Given the description of an element on the screen output the (x, y) to click on. 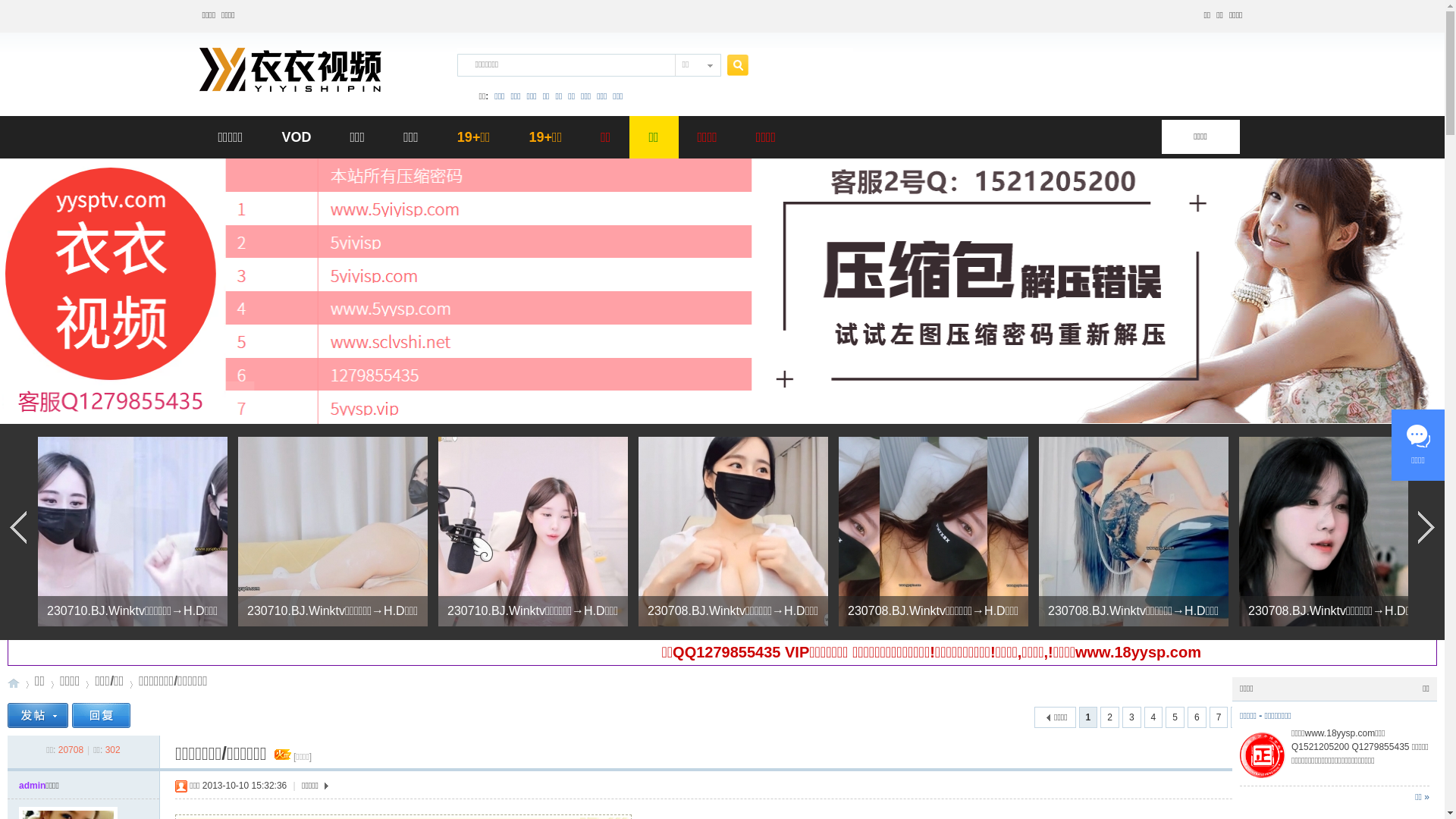
2 Element type: text (1109, 717)
7 Element type: text (1218, 717)
4 Element type: text (1153, 717)
10 Element type: text (1286, 717)
... 31 Element type: text (1318, 717)
5 Element type: text (1174, 717)
6 Element type: text (1196, 717)
3 Element type: text (1131, 717)
8 Element type: text (1239, 717)
VOD Element type: text (295, 137)
admin Element type: text (31, 785)
9 Element type: text (1261, 717)
